Given the description of an element on the screen output the (x, y) to click on. 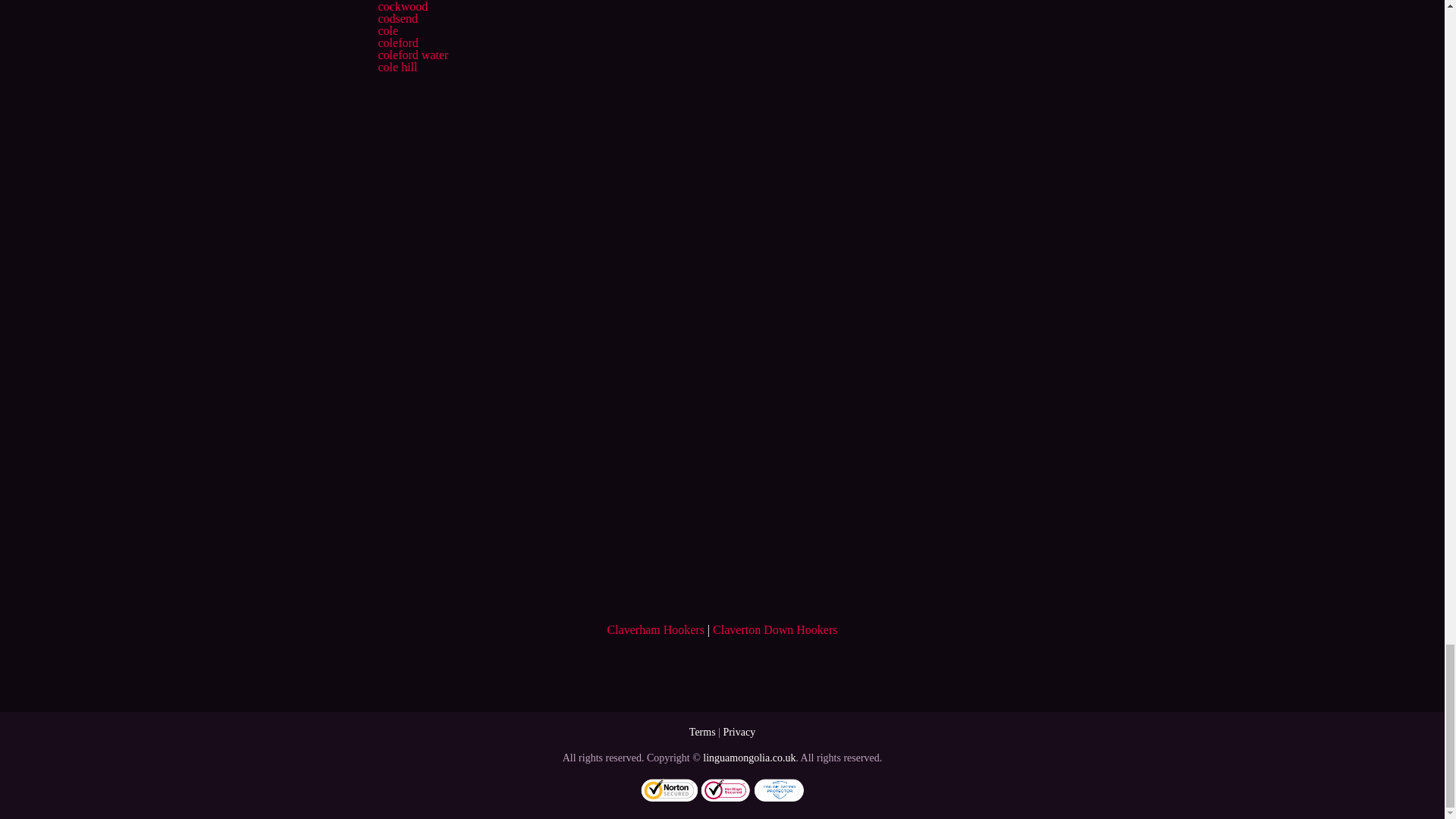
linguamongolia.co.uk (748, 757)
cole (387, 30)
Privacy (738, 731)
Claverham Hookers (655, 629)
coleford water (412, 54)
cocklake (398, 0)
Terms (702, 731)
cockwood (402, 6)
Claverton Down Hookers (775, 629)
Privacy (738, 731)
